Given the description of an element on the screen output the (x, y) to click on. 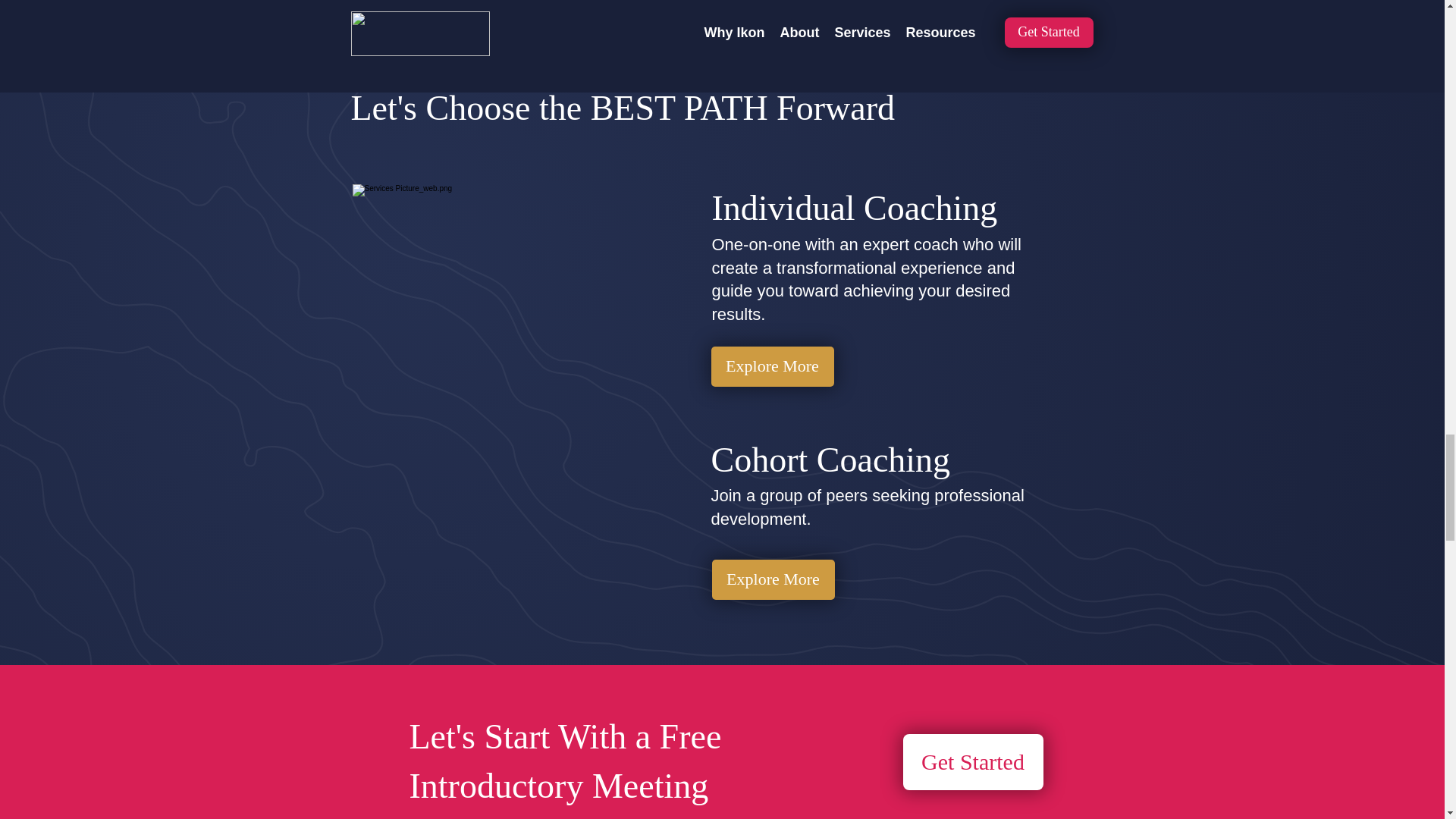
Explore More (772, 579)
Explore More (772, 366)
Get Started (972, 761)
